Given the description of an element on the screen output the (x, y) to click on. 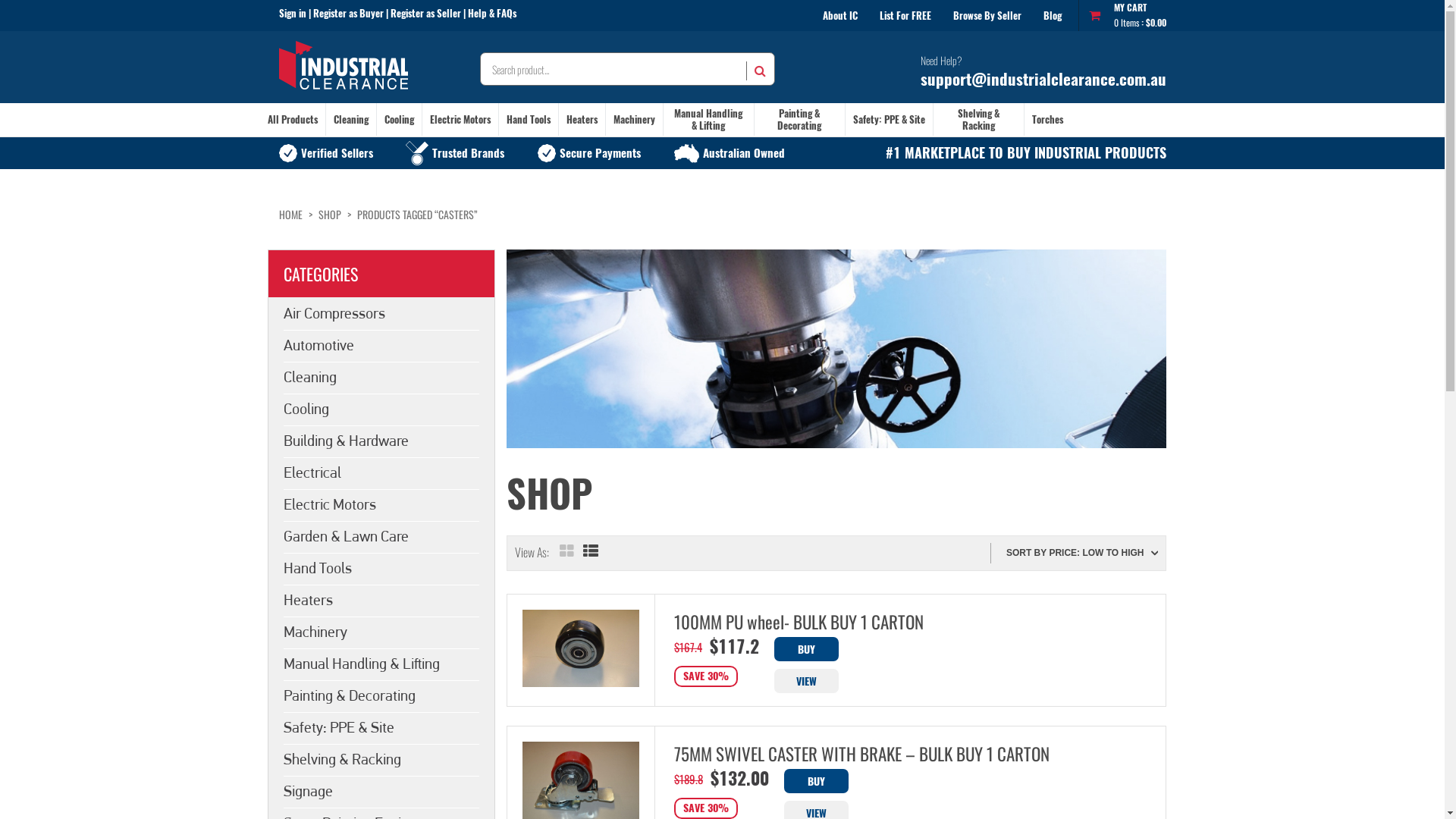
Air Compressors Element type: text (381, 313)
100MM PU wheel- BULK BUY 1 CARTON Element type: text (885, 623)
Hand Tools Element type: text (528, 119)
BUY Element type: text (816, 780)
About IC Element type: text (839, 15)
Painting & Decorating Element type: text (381, 695)
Browse By Seller Element type: text (987, 15)
Electric Motors Element type: text (459, 119)
Shelving & Racking Element type: text (977, 119)
List Element type: hover (590, 552)
Grid Element type: hover (566, 552)
Machinery Element type: text (633, 119)
CATEGORIES Element type: text (381, 273)
Register as Seller Element type: text (424, 12)
List For FREE Element type: text (905, 15)
Register as Buyer Element type: text (347, 12)
SORT BY PRICE: LOW TO HIGH Element type: text (1081, 552)
Painting & Decorating Element type: text (798, 119)
Sign in Element type: text (292, 12)
Signage Element type: text (381, 790)
Shelving & Racking Element type: text (381, 759)
Blog Element type: text (1052, 15)
Heaters Element type: text (381, 599)
Heaters Element type: text (580, 119)
Garden & Lawn Care Element type: text (381, 536)
Electric Motors Element type: text (381, 504)
Safety: PPE & Site Element type: text (888, 119)
Manual Handling & Lifting Element type: text (381, 663)
HOME Element type: text (290, 214)
SHOP Element type: text (329, 214)
Automotive Element type: text (381, 344)
Cooling Element type: text (398, 119)
All Products Element type: text (291, 119)
BUY Element type: text (805, 649)
Torches Element type: text (1046, 119)
VIEW Element type: text (805, 680)
Industrial Clearance Element type: hover (343, 66)
Cooling Element type: text (381, 408)
Machinery Element type: text (381, 631)
Hand Tools Element type: text (381, 567)
Help & FAQs Element type: text (491, 12)
Building & Hardware Element type: text (381, 440)
Cleaning Element type: text (350, 119)
Electrical Element type: text (381, 472)
Manual Handling & Lifting Element type: text (707, 119)
Safety: PPE & Site Element type: text (381, 727)
Cleaning Element type: text (381, 376)
